Given the description of an element on the screen output the (x, y) to click on. 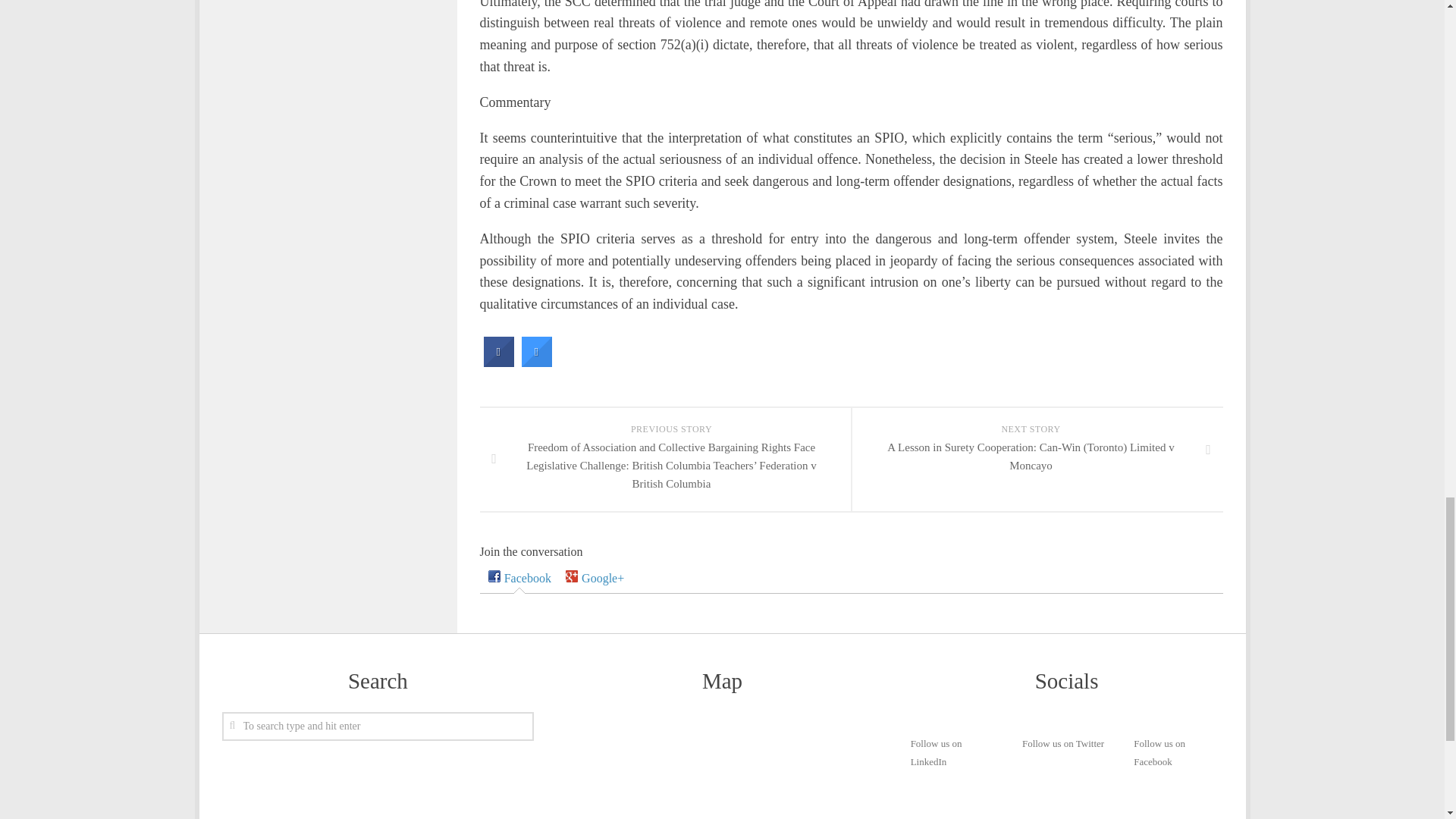
To search type and hit enter (377, 726)
Share on Facebook (498, 362)
Facebook (519, 578)
Share on Twitter (536, 362)
To search type and hit enter (377, 726)
